Given the description of an element on the screen output the (x, y) to click on. 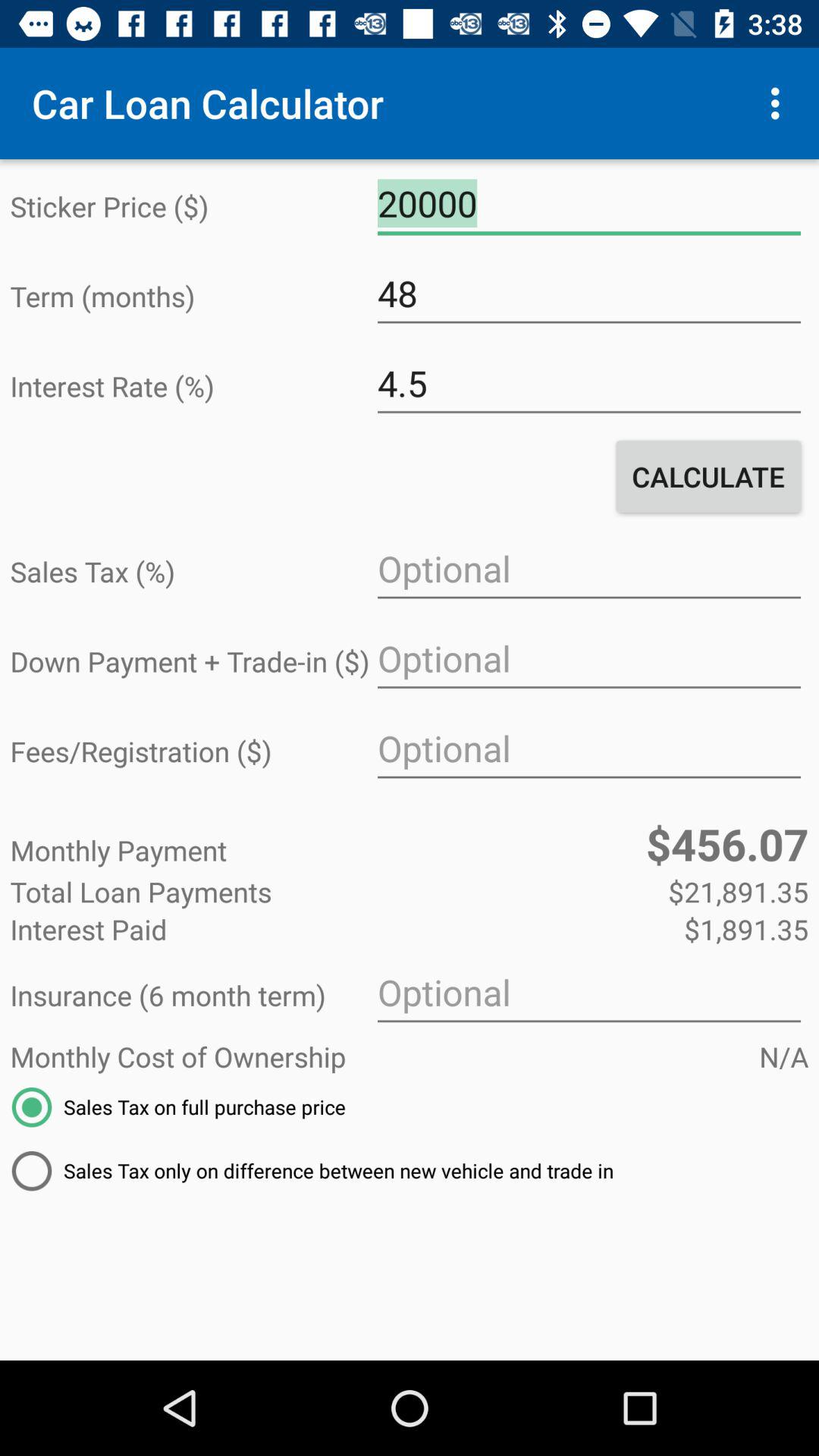
click the item below interest paid (588, 992)
